Given the description of an element on the screen output the (x, y) to click on. 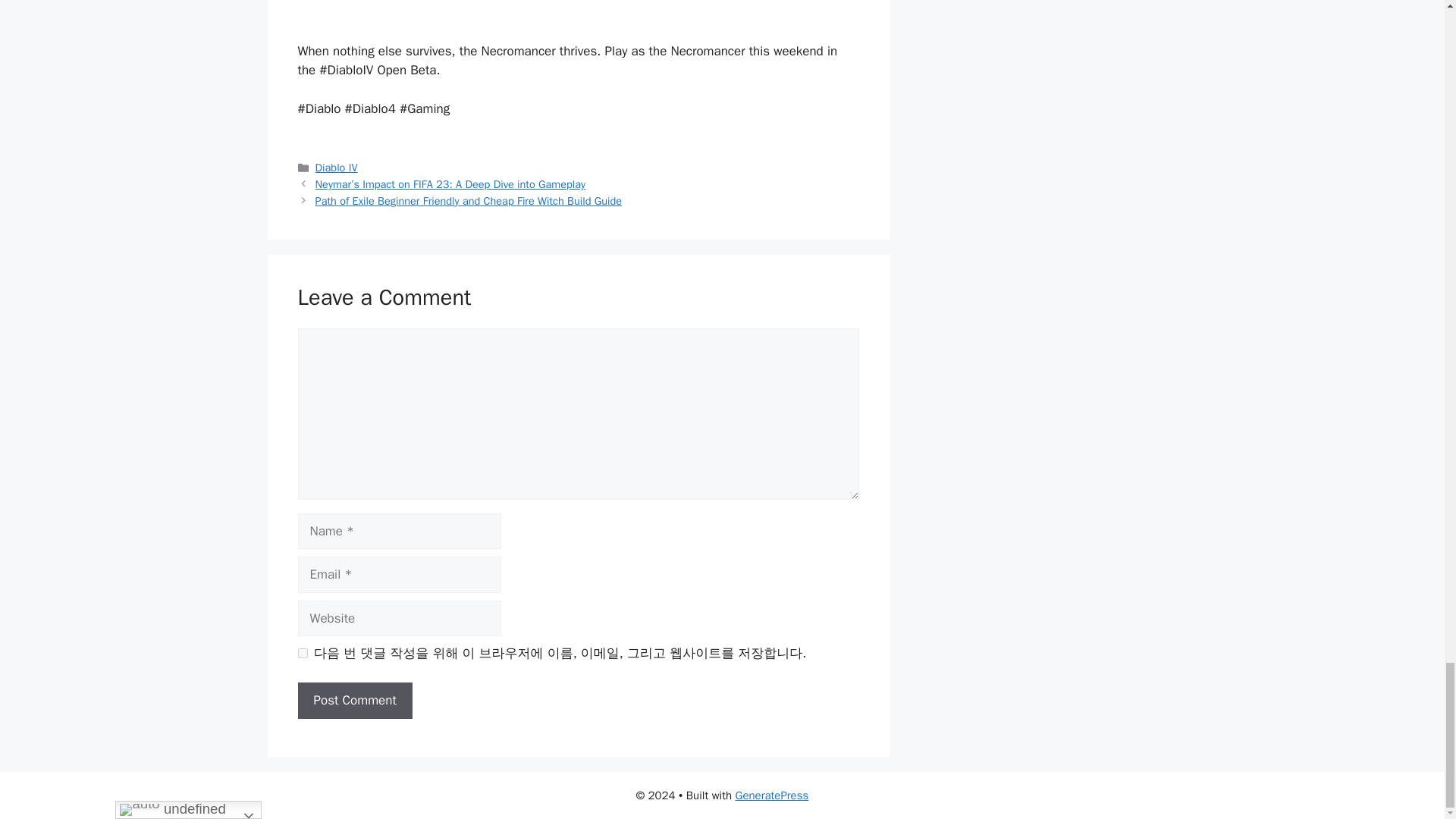
yes (302, 653)
Diablo IV (336, 167)
Post Comment (354, 700)
